Given the description of an element on the screen output the (x, y) to click on. 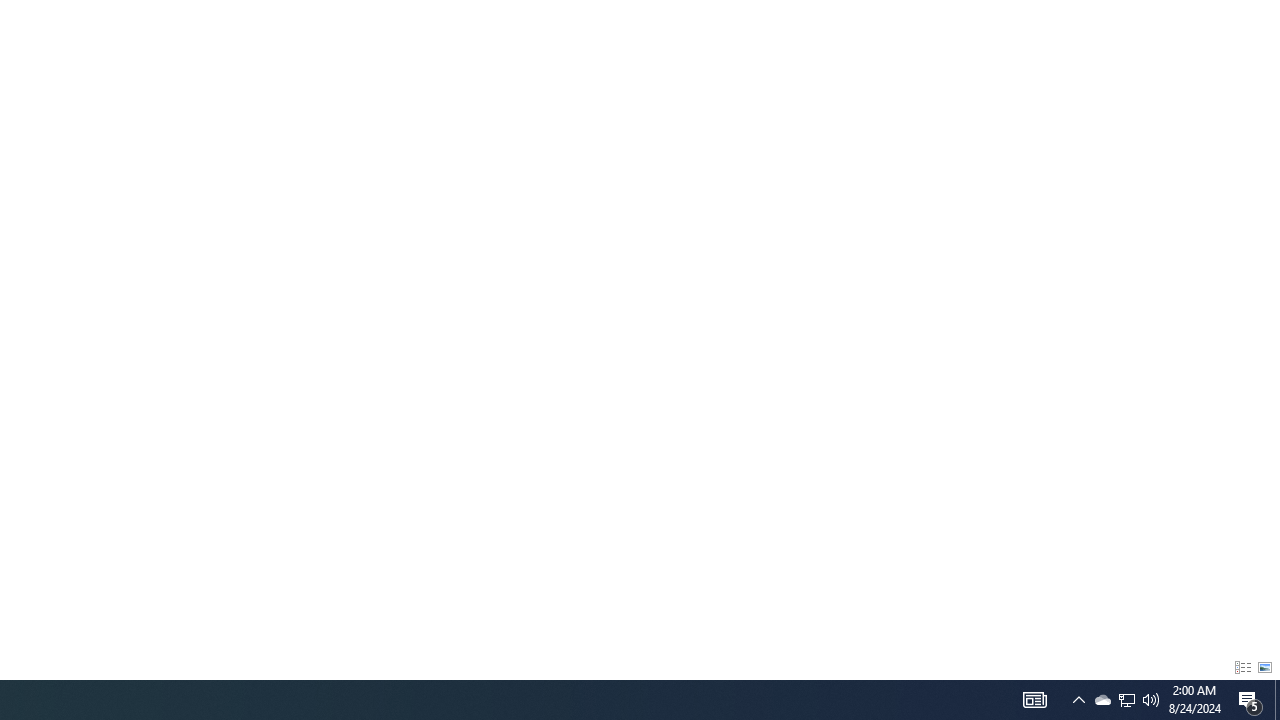
Large Icons (1265, 667)
Details (1242, 667)
